Given the description of an element on the screen output the (x, y) to click on. 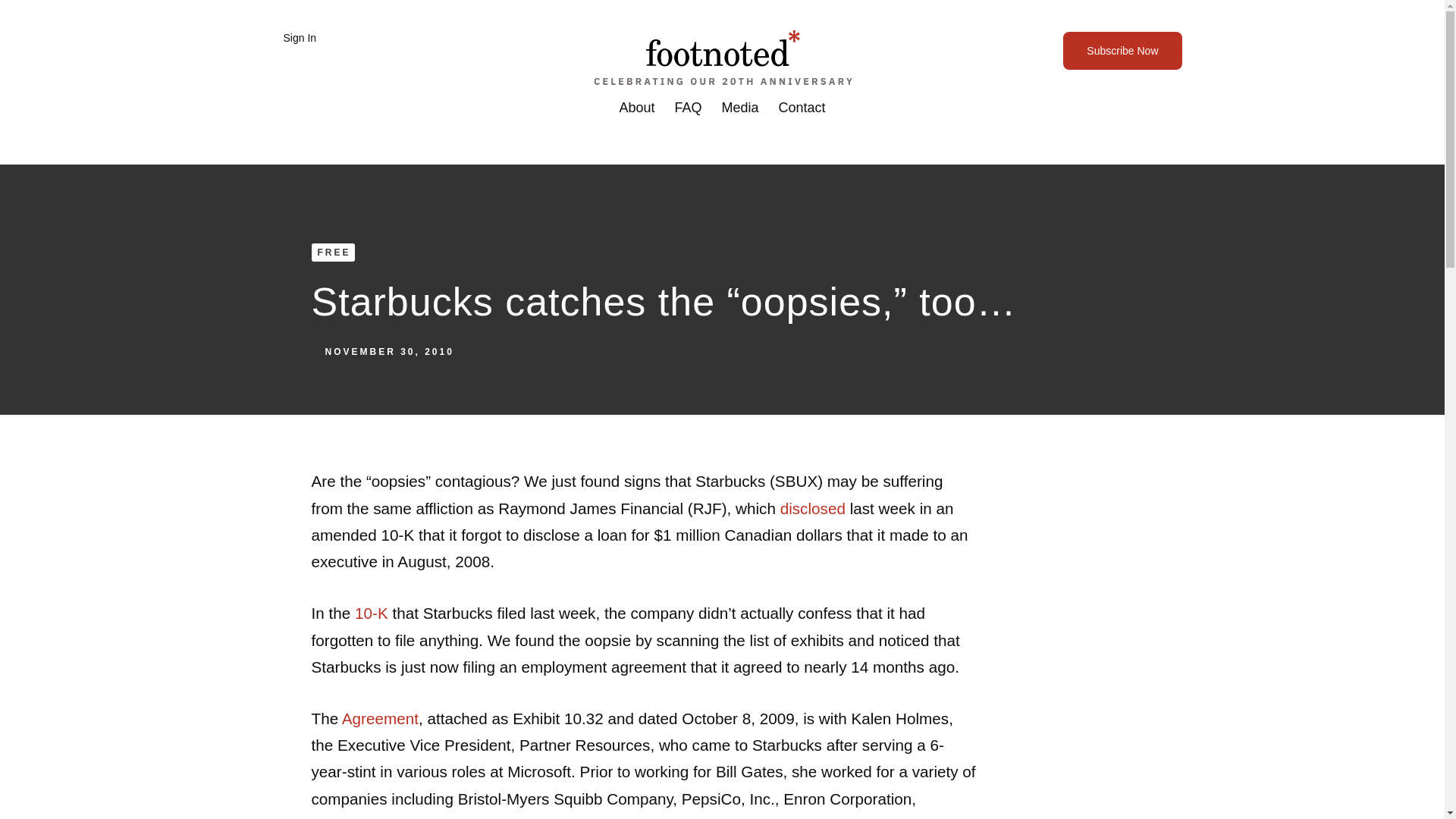
Subscribe Now (1122, 50)
Agreement (380, 718)
10-K (371, 612)
Sign In (296, 38)
Media (739, 107)
Contact (801, 107)
About (635, 107)
disclosed (812, 507)
FAQ (687, 107)
